Given the description of an element on the screen output the (x, y) to click on. 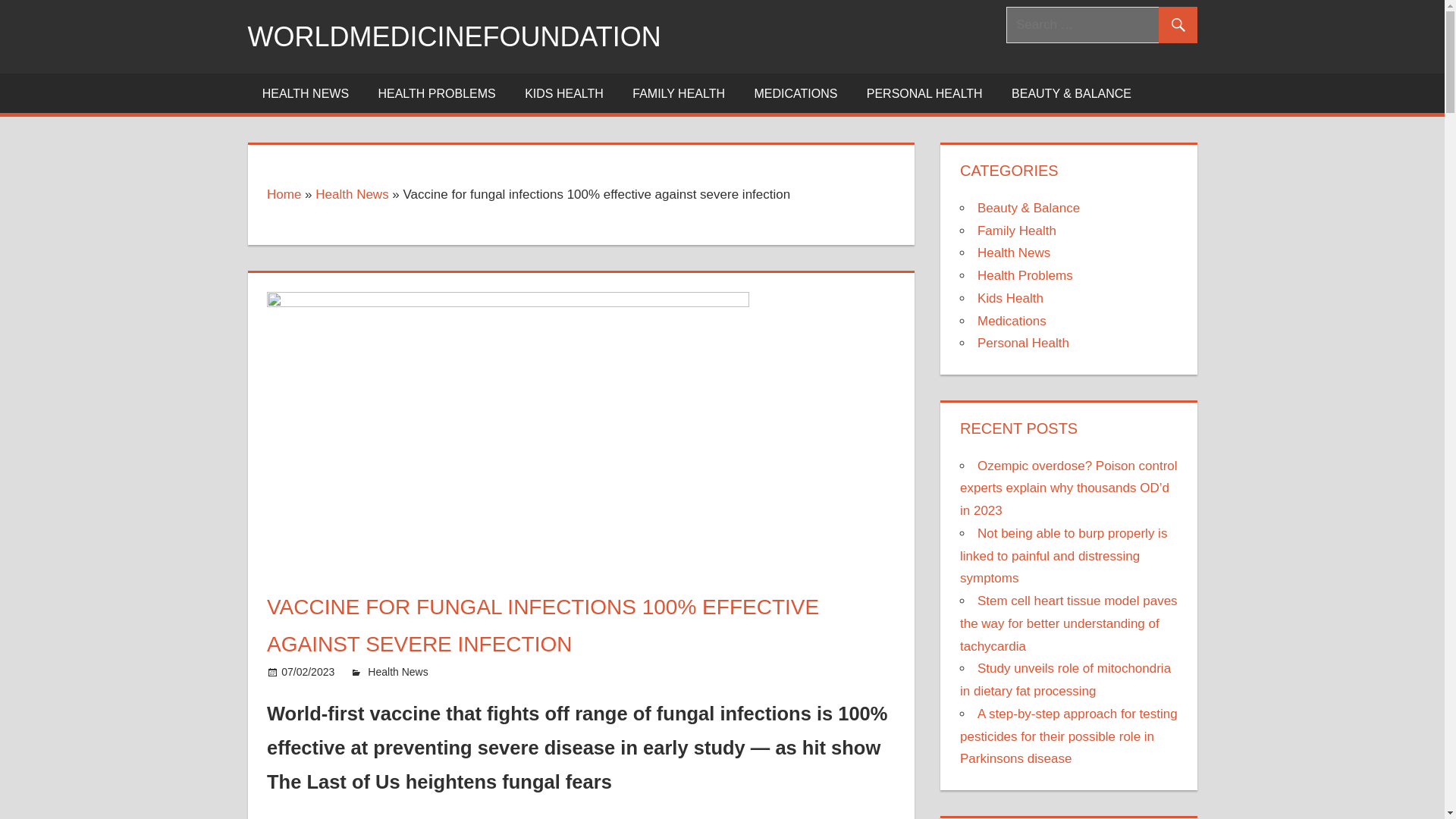
Family Health (1016, 230)
Home (283, 194)
FAMILY HEALTH (678, 93)
KIDS HEALTH (564, 93)
MEDICATIONS (795, 93)
Health News (398, 671)
Personal Health (1022, 342)
Study unveils role of mitochondria in dietary fat processing (1064, 679)
Kids Health (1009, 298)
HEALTH NEWS (304, 93)
